Given the description of an element on the screen output the (x, y) to click on. 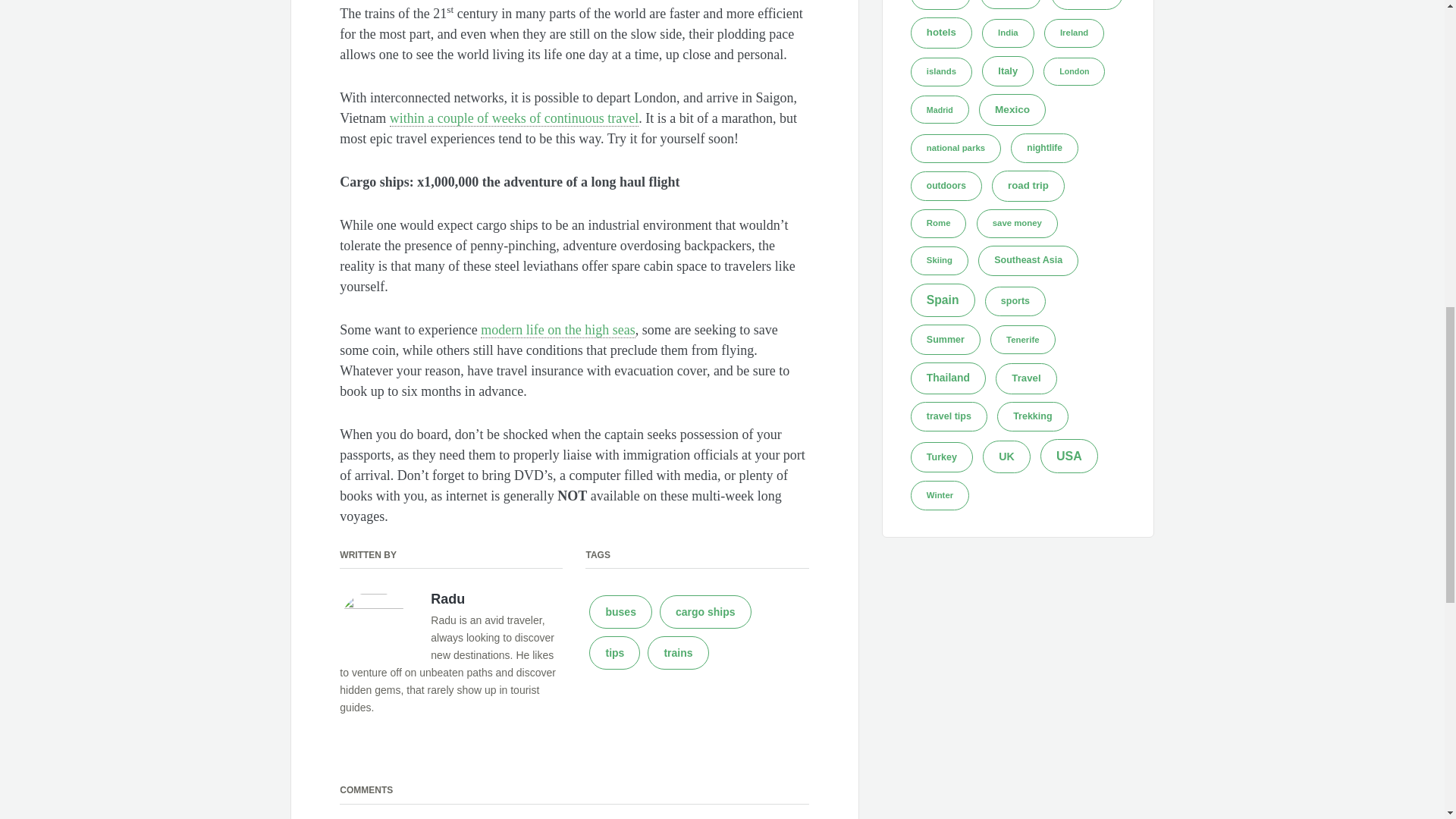
modern life on the high seas (557, 330)
Radu (447, 598)
within a couple of weeks of continuous travel (514, 118)
trains (677, 652)
buses (619, 611)
tips (614, 652)
cargo ships (705, 611)
